Given the description of an element on the screen output the (x, y) to click on. 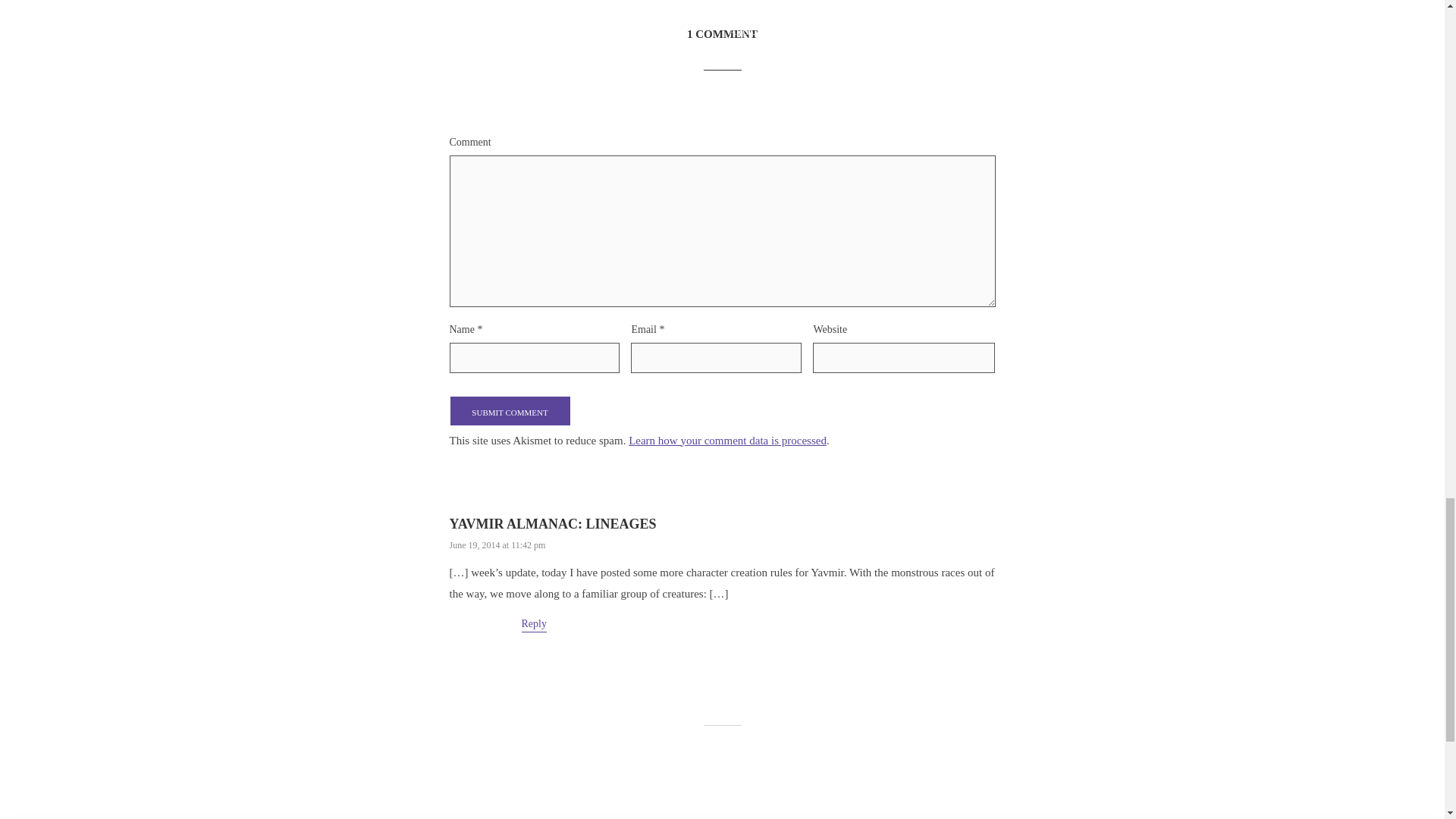
YAVMIR ALMANAC: LINEAGES (552, 523)
Learn how your comment data is processed (727, 440)
Submit Comment (509, 410)
Reply (534, 625)
Submit Comment (509, 410)
June 19, 2014 at 11:42 pm (496, 544)
